Given the description of an element on the screen output the (x, y) to click on. 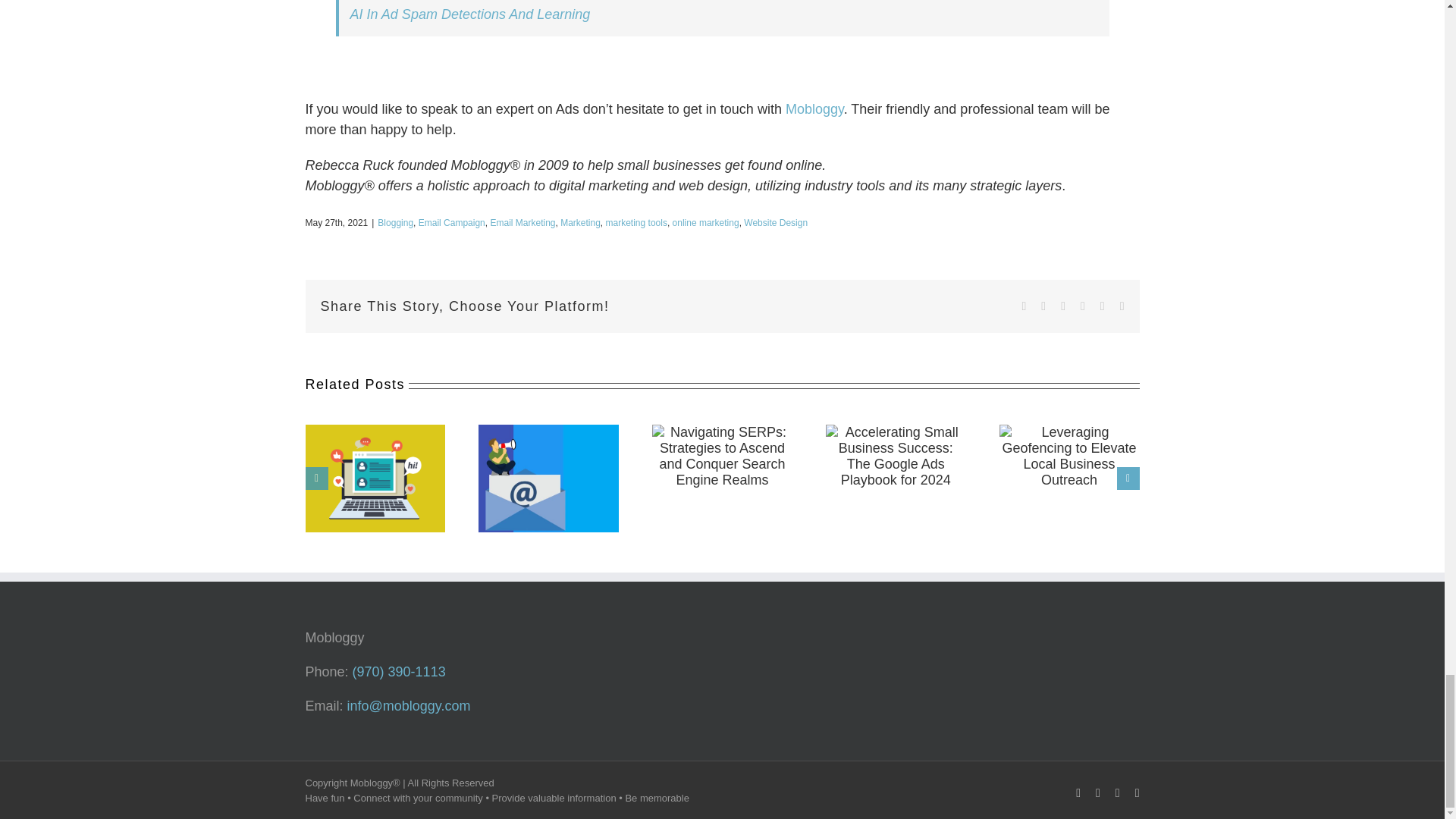
Marketing (579, 222)
Blogging (395, 222)
online marketing (705, 222)
Mobloggy (815, 109)
Email Marketing (521, 222)
Email Campaign (451, 222)
marketing tools (635, 222)
Website Design (776, 222)
AI In Ad Spam Detections And Learning (470, 14)
